Given the description of an element on the screen output the (x, y) to click on. 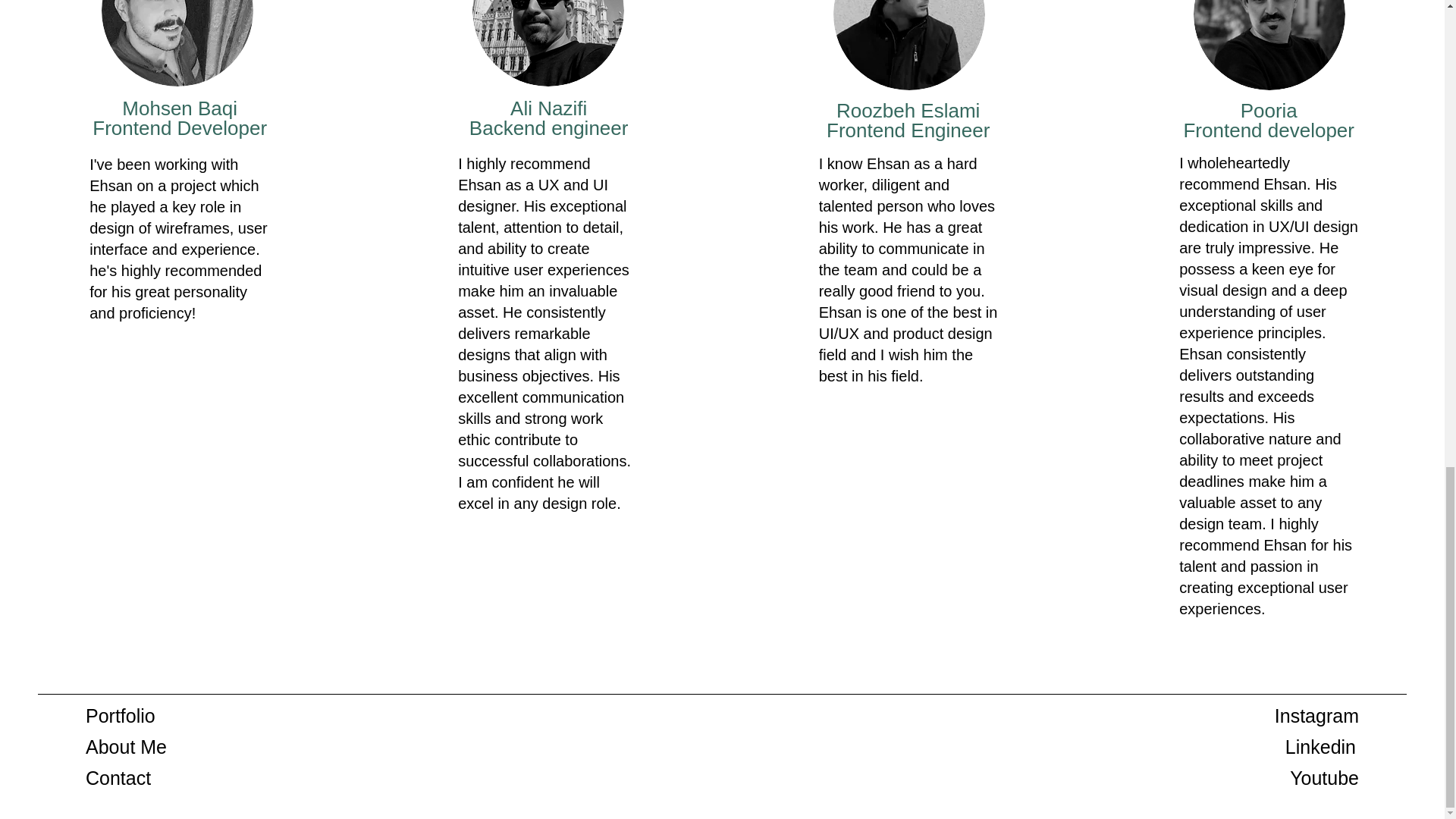
GettyImages-145680711.jpg (908, 45)
GettyImages-535587703.jpg (177, 43)
About Me (126, 746)
GettyImages-145680711.jpg (1269, 45)
GettyImages-124893619.jpg (547, 43)
Youtube (1324, 777)
Linkedin (1320, 746)
Portfolio (120, 715)
Instagram (1316, 715)
Contact (118, 777)
